Given the description of an element on the screen output the (x, y) to click on. 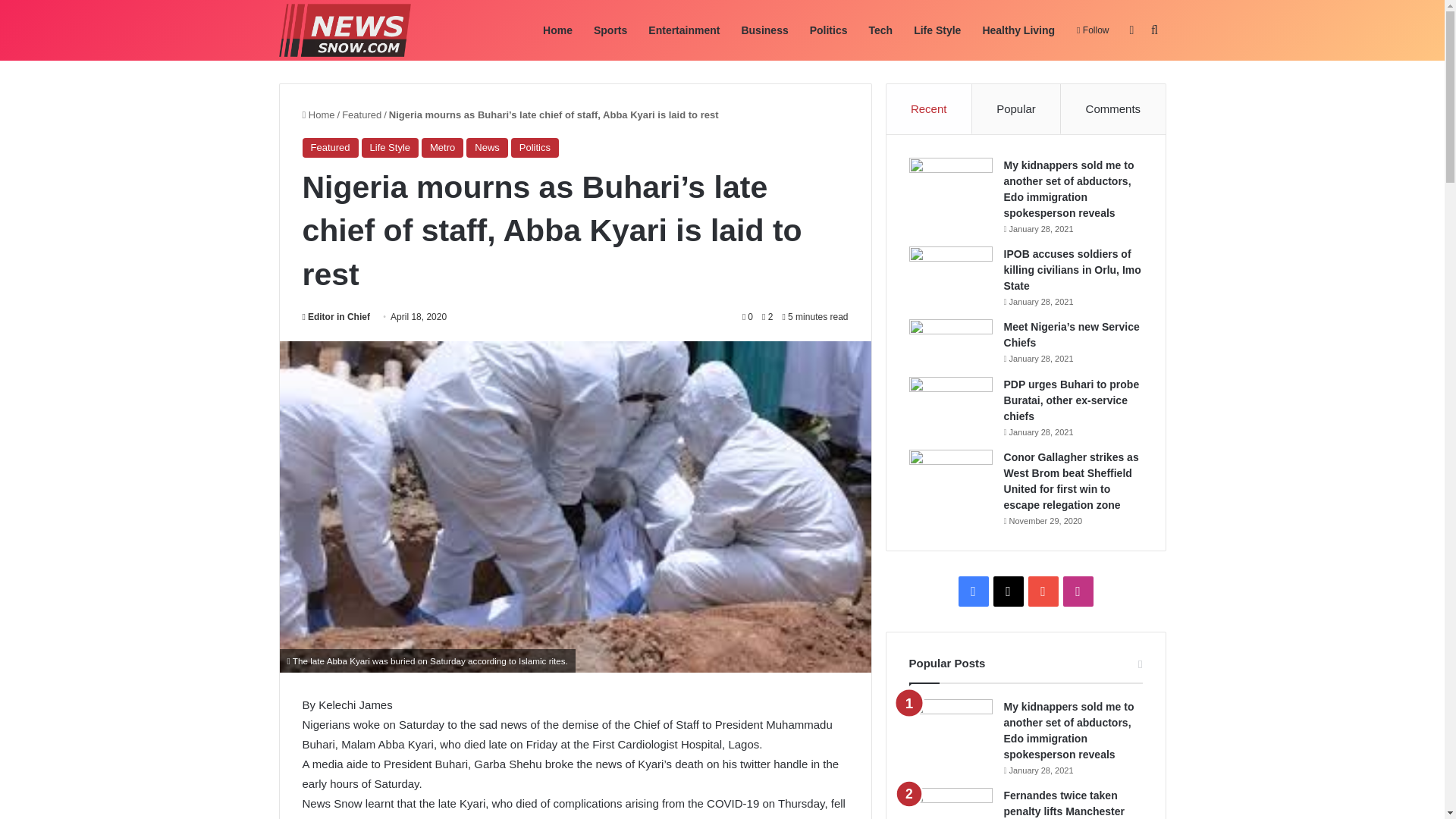
Editor in Chief (335, 317)
Featured (361, 114)
News (486, 148)
Featured (329, 148)
Editor in Chief (335, 317)
Entertainment (683, 30)
Home (317, 114)
Follow (1092, 30)
Metro (442, 148)
Life Style (390, 148)
Newssnow.com (344, 30)
Politics (535, 148)
Sports (610, 30)
Business (763, 30)
Politics (829, 30)
